Given the description of an element on the screen output the (x, y) to click on. 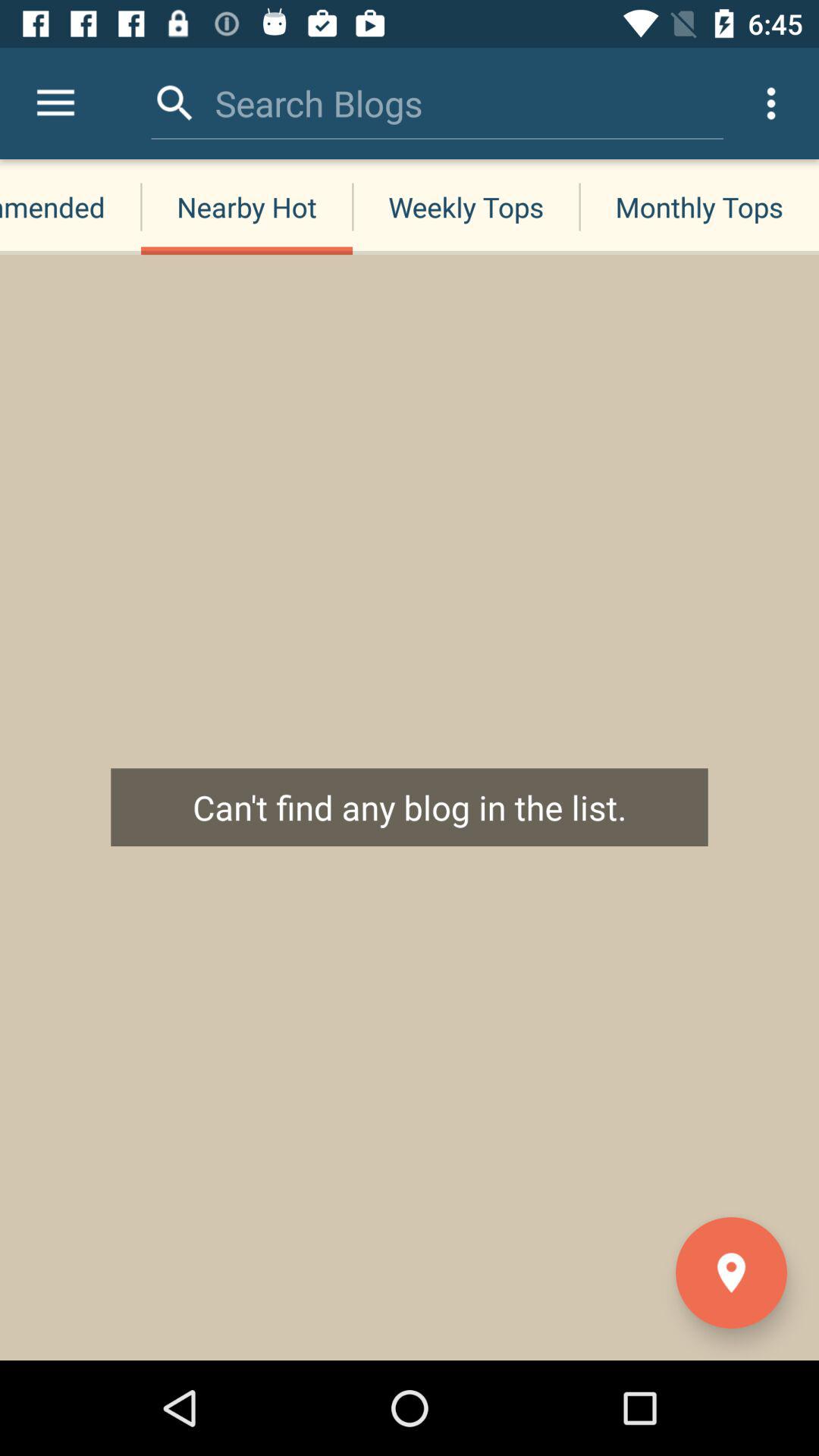
swipe until the monthly tops item (699, 206)
